Given the description of an element on the screen output the (x, y) to click on. 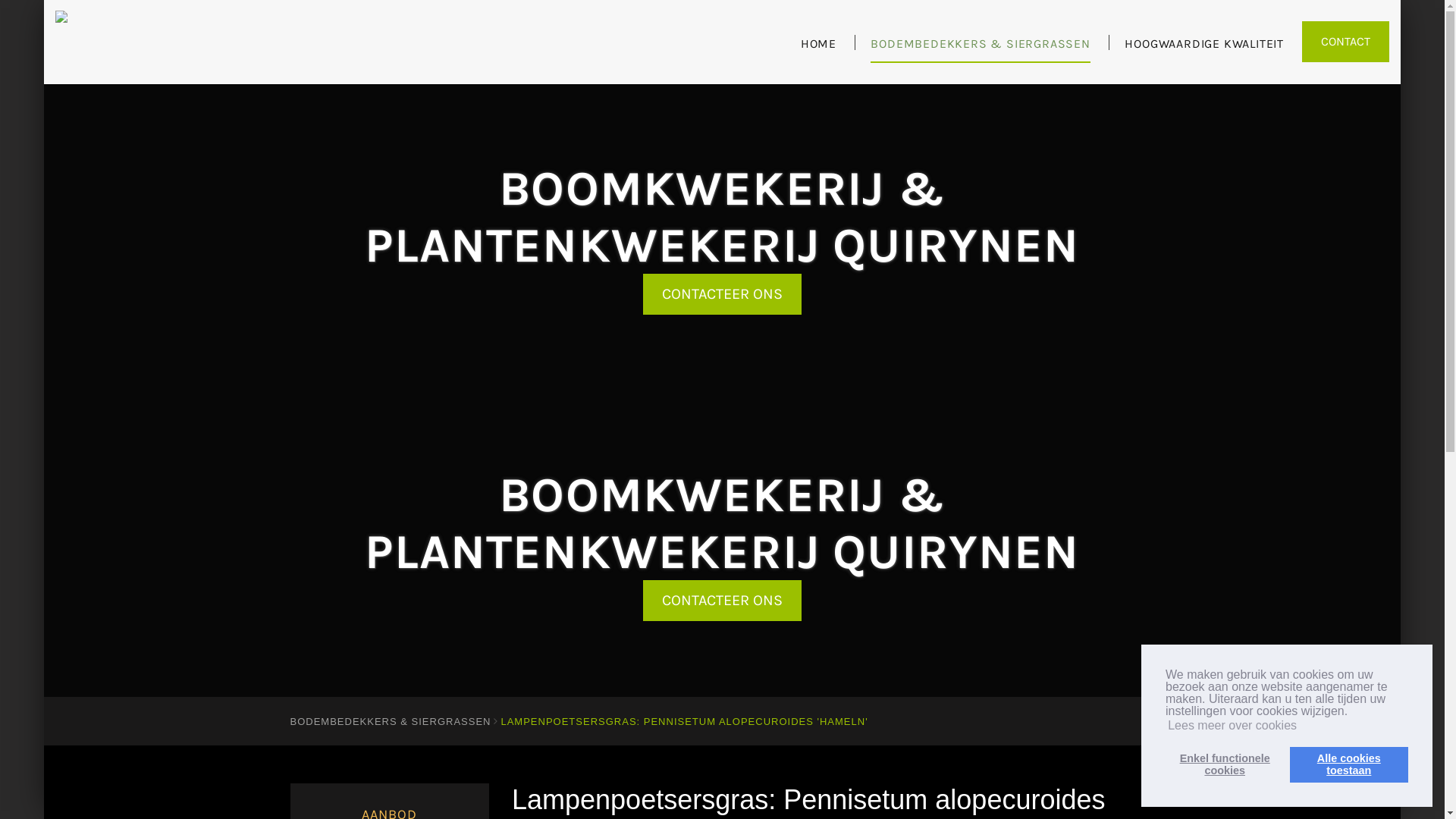
CONTACTEER ONS Element type: text (722, 293)
BODEMBEDEKKERS & SIERGRASSEN Element type: text (389, 721)
CONTACT Element type: text (1345, 41)
LAMPENPOETSERSGRAS: PENNISETUM ALOPECUROIDES 'HAMELN' Element type: text (683, 721)
HOOGWAARDIGE KWALITEIT Element type: text (1203, 49)
BODEMBEDEKKERS & SIERGRASSEN Element type: text (979, 49)
Alle cookies
toestaan Element type: text (1348, 764)
Lees meer over cookies Element type: text (1232, 725)
Enkel functionele
cookies Element type: text (1224, 764)
CONTACTEER ONS Element type: text (722, 600)
HOME Element type: text (818, 49)
